Given the description of an element on the screen output the (x, y) to click on. 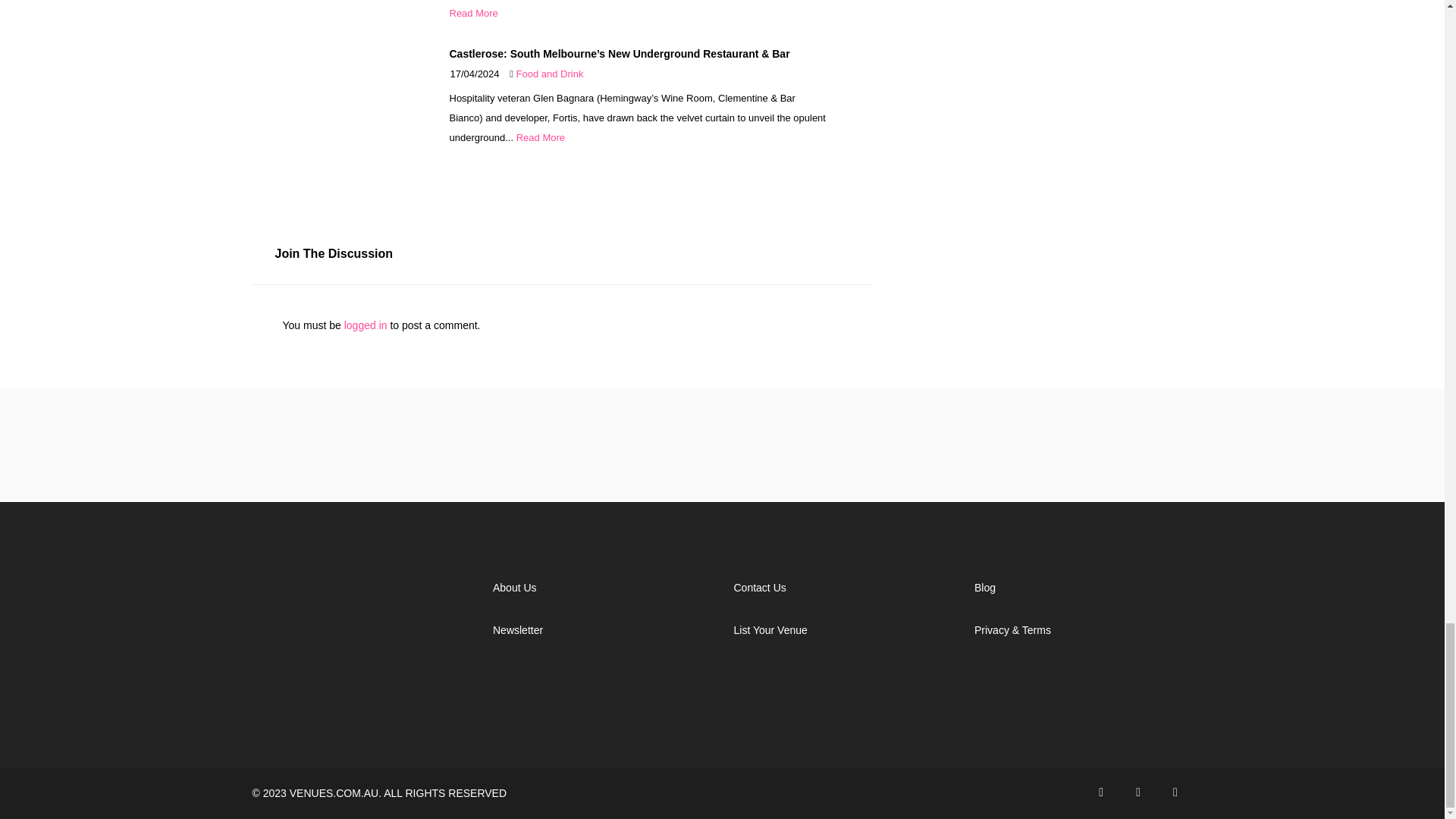
Read More (472, 12)
